Given the description of an element on the screen output the (x, y) to click on. 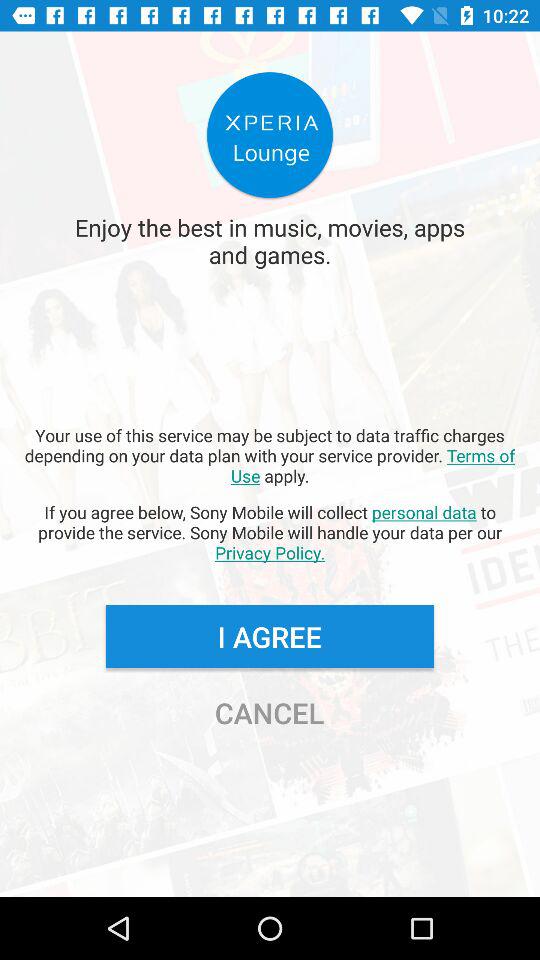
select the cancel (269, 712)
